Given the description of an element on the screen output the (x, y) to click on. 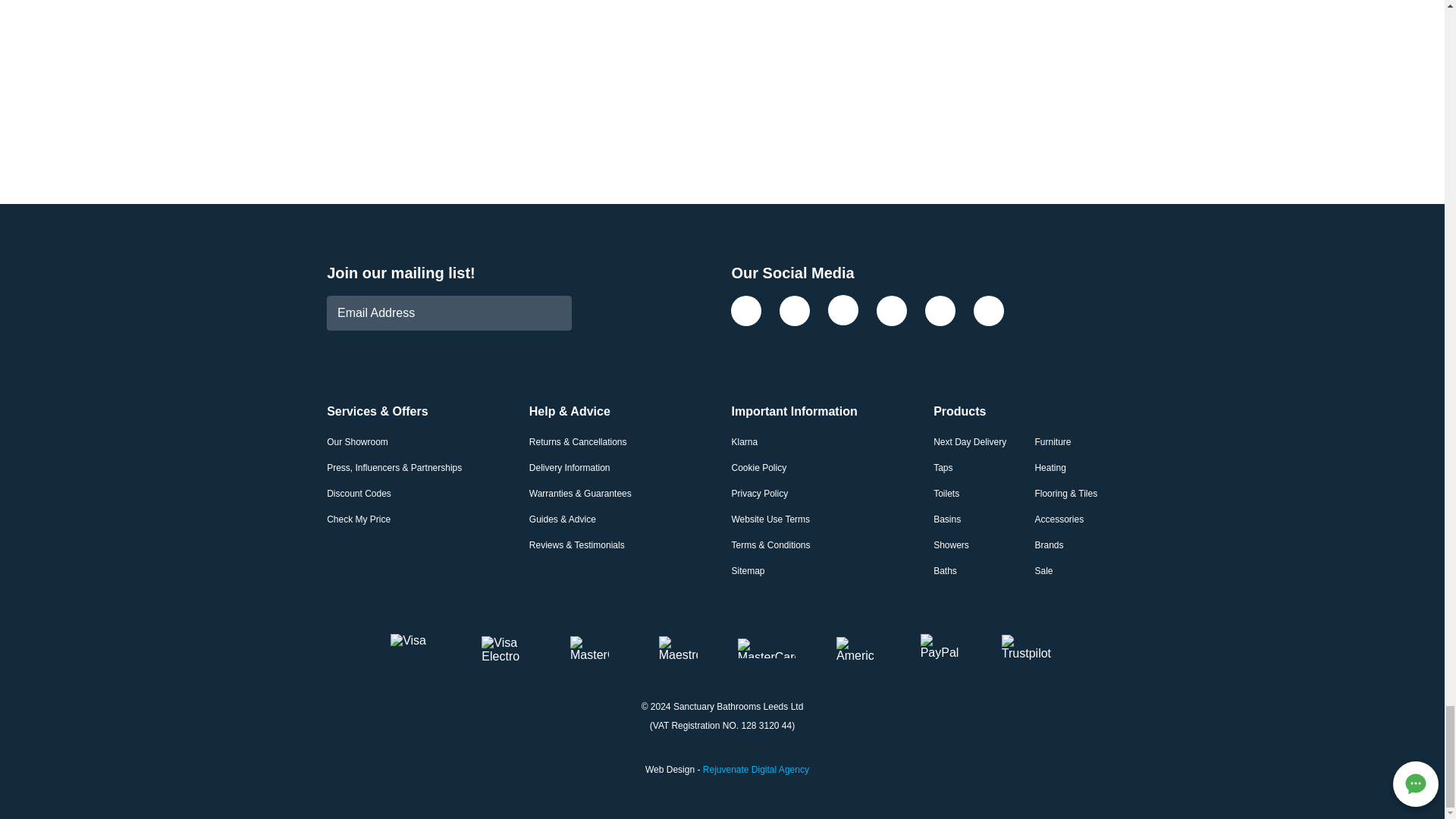
YouTube (989, 310)
Twitter (793, 310)
Pinterest (939, 310)
Instagram (843, 310)
Facebook (745, 310)
TikTok (891, 310)
